Given the description of an element on the screen output the (x, y) to click on. 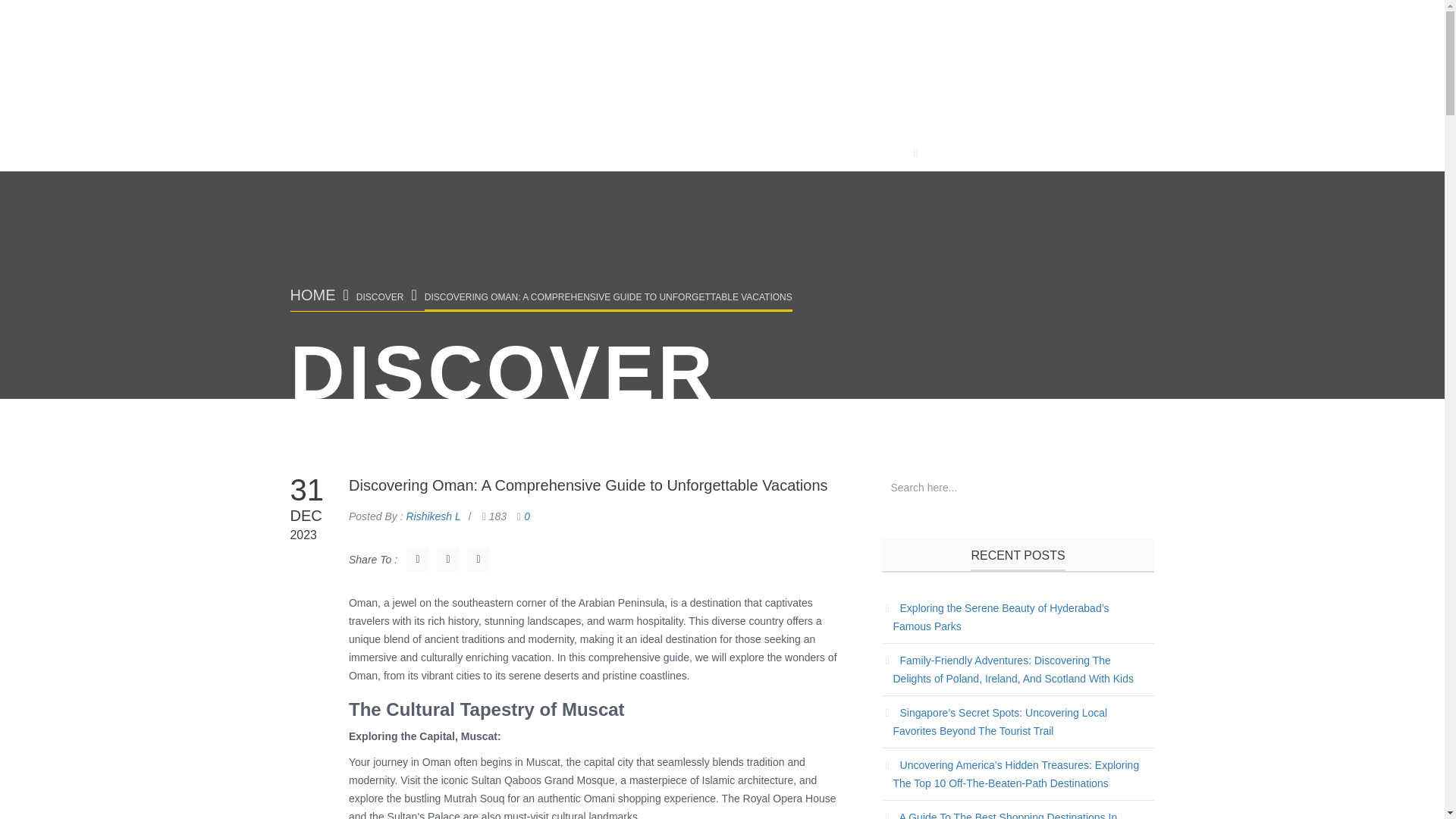
0 (526, 516)
ABOUT US (850, 158)
SERVICES (701, 158)
Rishikesh L (433, 516)
TOURS (622, 158)
BLOG (775, 158)
DISCOVER (380, 297)
HOME (311, 294)
HOME (554, 158)
